Given the description of an element on the screen output the (x, y) to click on. 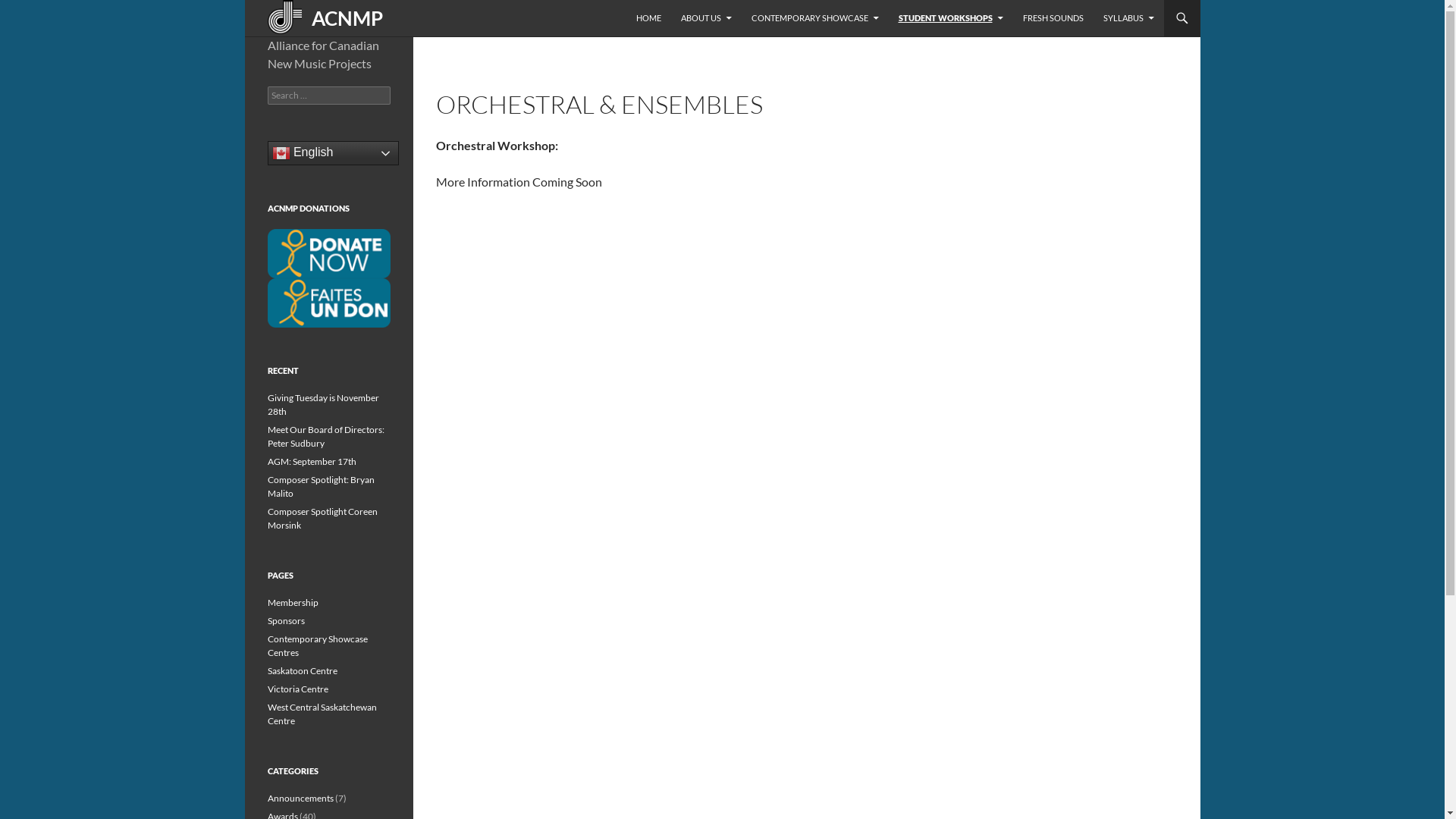
Composer Spotlight: Bryan Malito Element type: text (319, 485)
CONTEMPORARY SHOWCASE Element type: text (814, 18)
STUDENT WORKSHOPS Element type: text (949, 18)
Victoria Centre Element type: text (296, 688)
Sponsors Element type: text (285, 620)
ACNMP Element type: text (319, 18)
SYLLABUS Element type: text (1127, 18)
English Element type: text (332, 153)
Meet Our Board of Directors: Peter Sudbury Element type: text (324, 435)
Contemporary Showcase Centres Element type: text (316, 645)
FRESH SOUNDS Element type: text (1052, 18)
Giving Tuesday is November 28th Element type: text (322, 404)
Saskatoon Centre Element type: text (301, 670)
AGM: September 17th Element type: text (310, 461)
Search Element type: text (29, 9)
HOME Element type: text (647, 18)
Membership Element type: text (291, 602)
ABOUT US Element type: text (705, 18)
West Central Saskatchewan Centre Element type: text (321, 713)
Composer Spotlight Coreen Morsink Element type: text (321, 517)
Announcements Element type: text (299, 797)
